Given the description of an element on the screen output the (x, y) to click on. 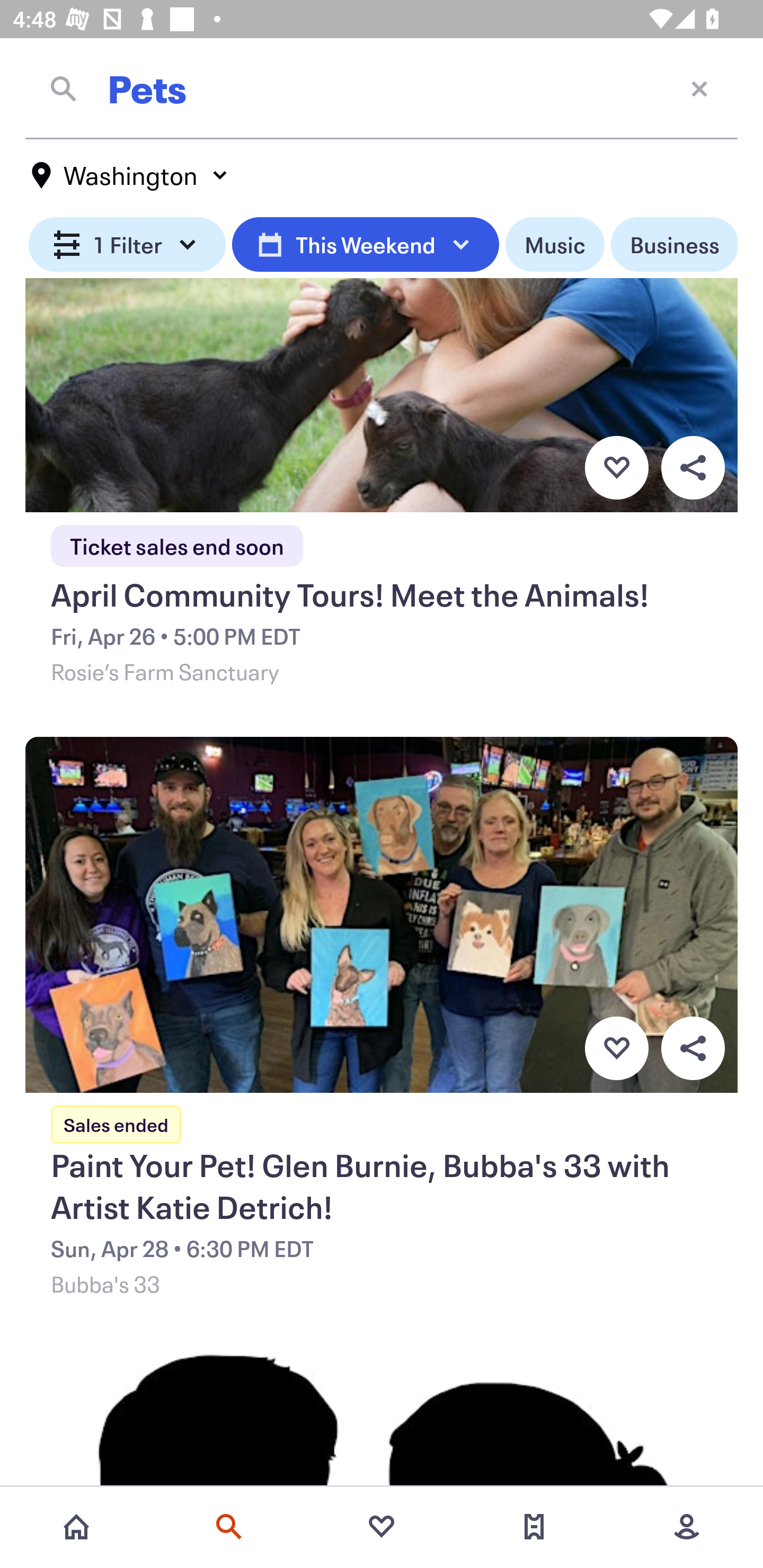
Pets Close current screen (381, 88)
Close current screen (699, 88)
Washington (130, 175)
Favorite button (616, 467)
Overflow menu button (692, 467)
Favorite button (616, 1047)
Overflow menu button (692, 1047)
Home (76, 1526)
Search events (228, 1526)
Favorites (381, 1526)
Tickets (533, 1526)
More (686, 1526)
